Given the description of an element on the screen output the (x, y) to click on. 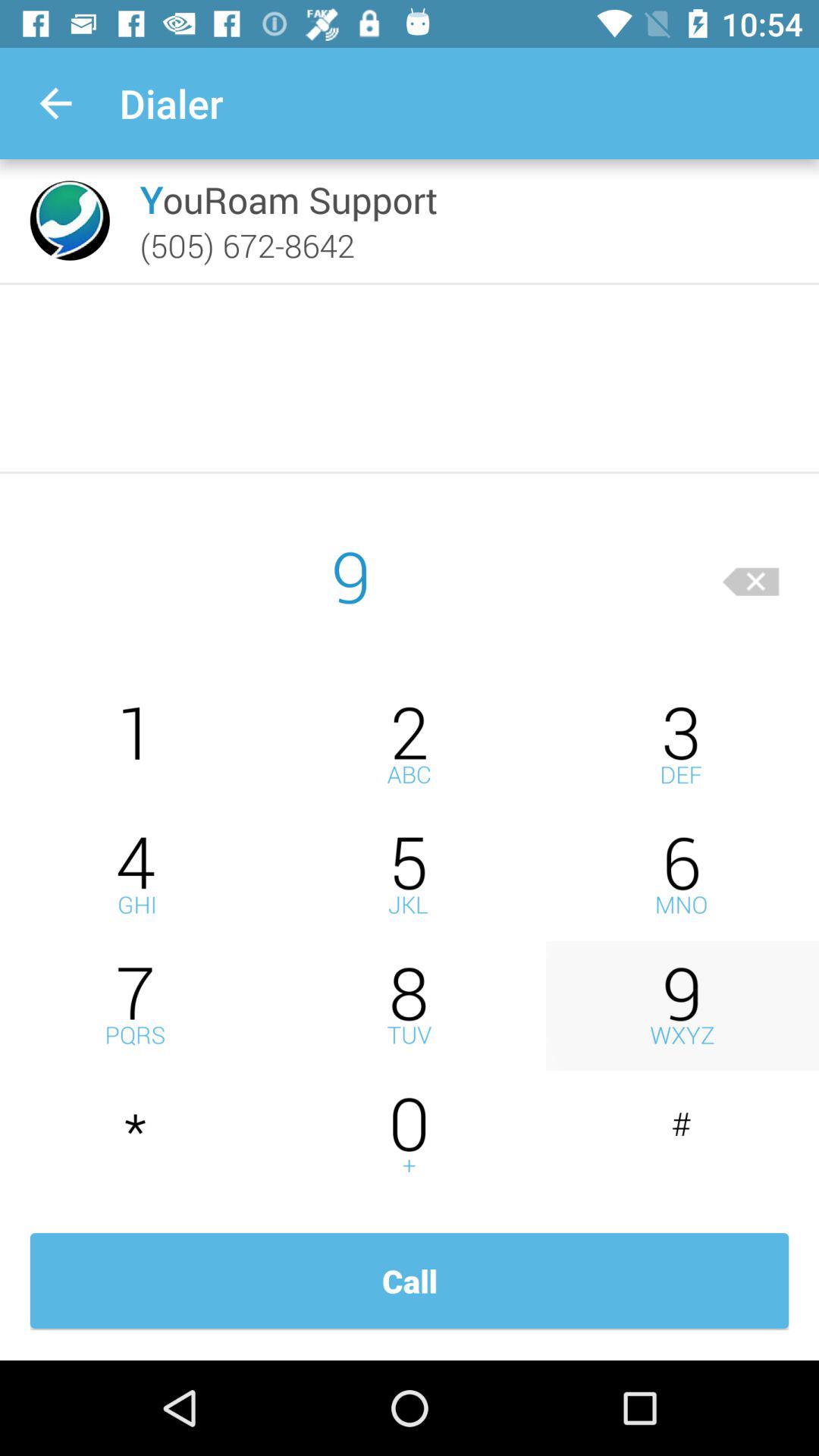
insert (682, 1135)
